Given the description of an element on the screen output the (x, y) to click on. 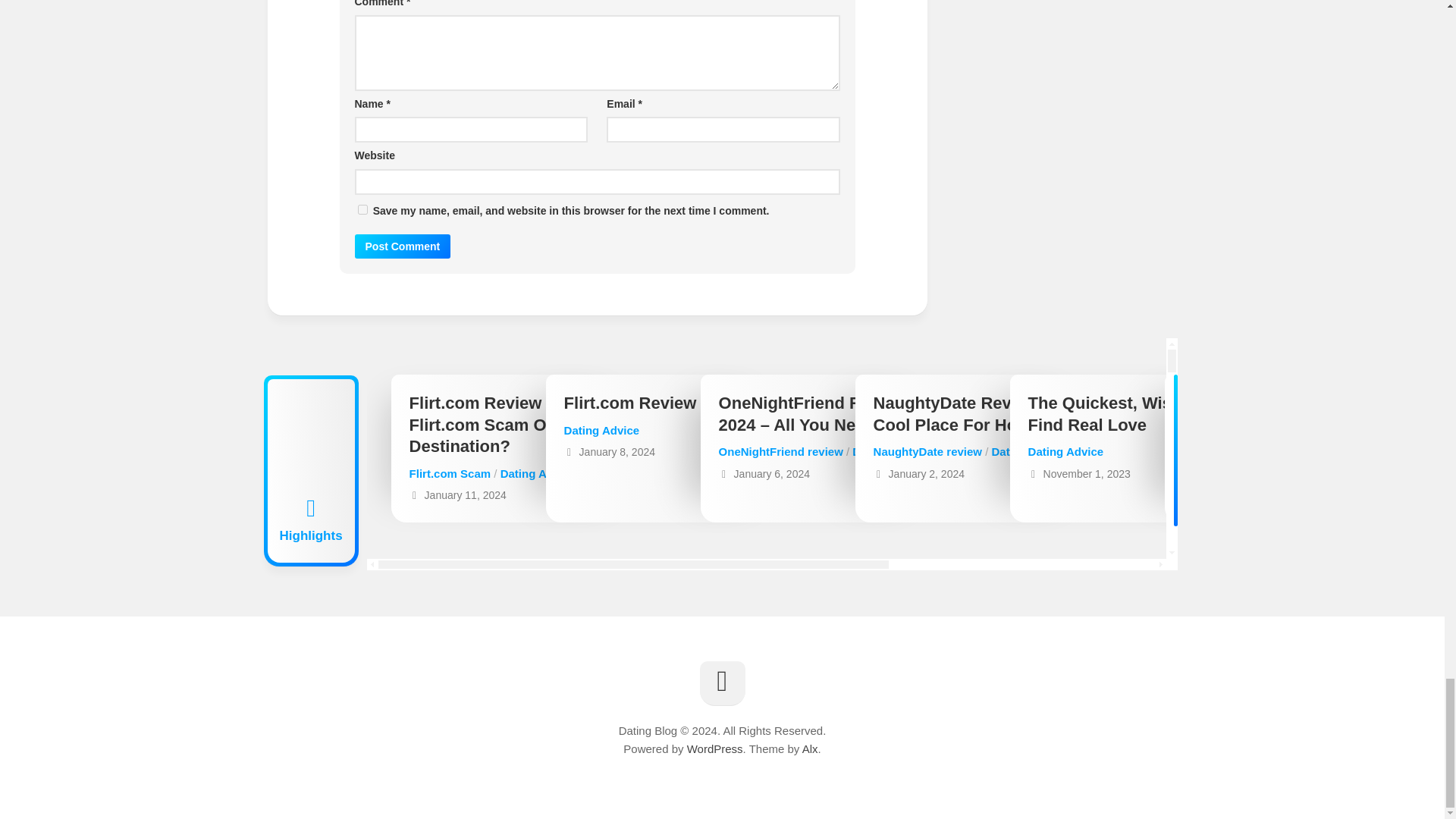
Post Comment (403, 246)
yes (363, 209)
Post Comment (403, 246)
